Given the description of an element on the screen output the (x, y) to click on. 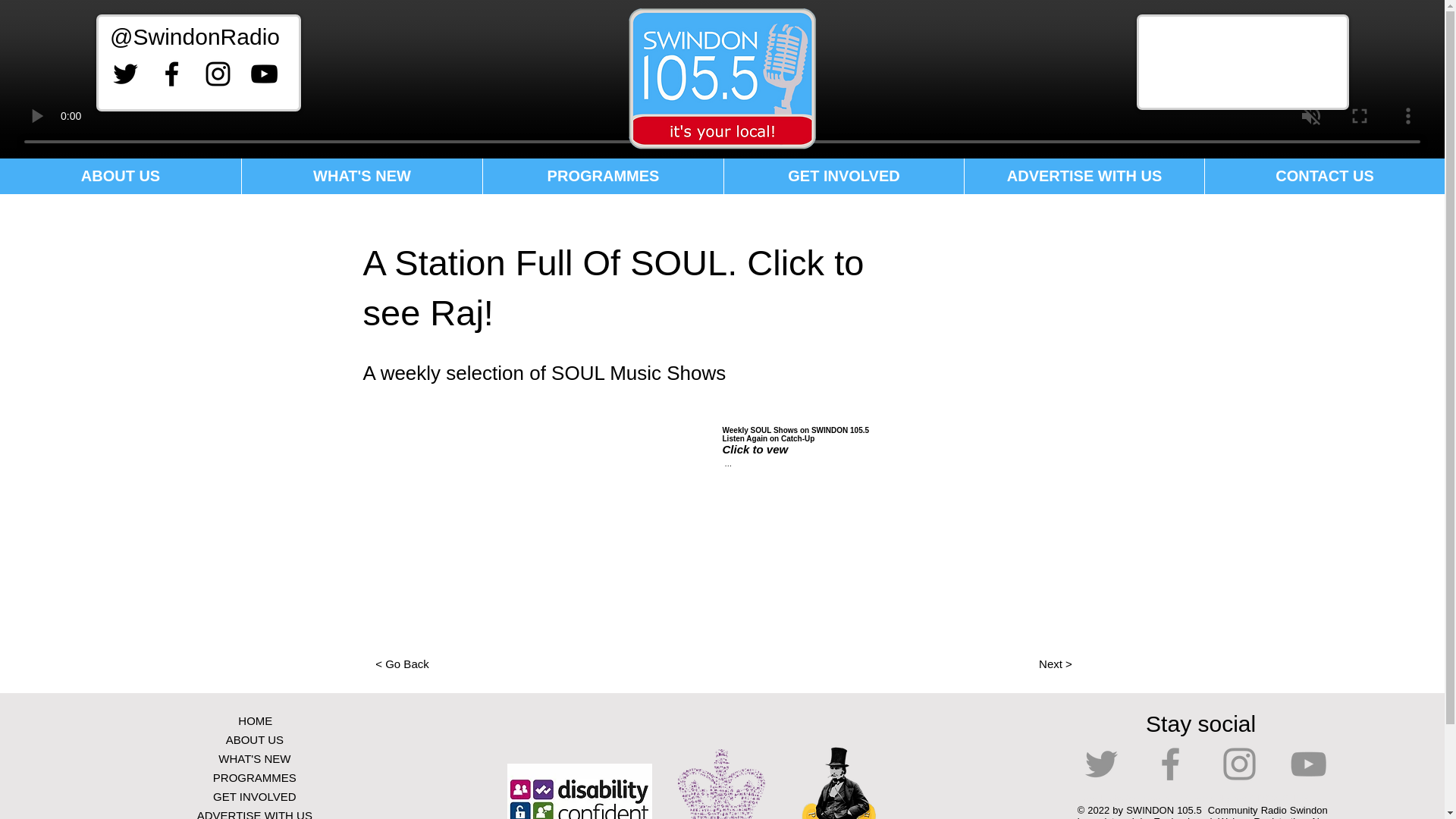
HOME (255, 720)
ADVERTISE WITH US (1083, 176)
ADVERTISE WITH US (254, 812)
